Given the description of an element on the screen output the (x, y) to click on. 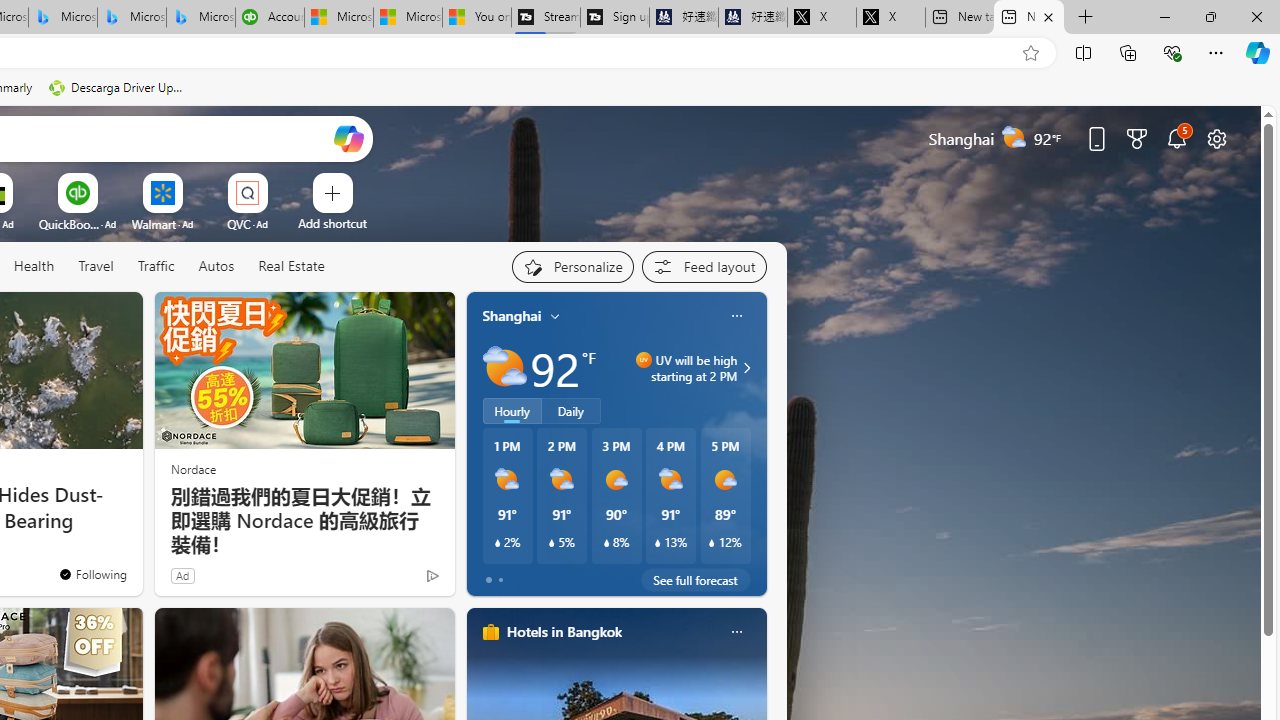
Class: weather-current-precipitation-glyph (712, 543)
Partly sunny (504, 368)
Microsoft rewards (1137, 138)
tab-0 (488, 579)
Traffic (155, 265)
